Given the description of an element on the screen output the (x, y) to click on. 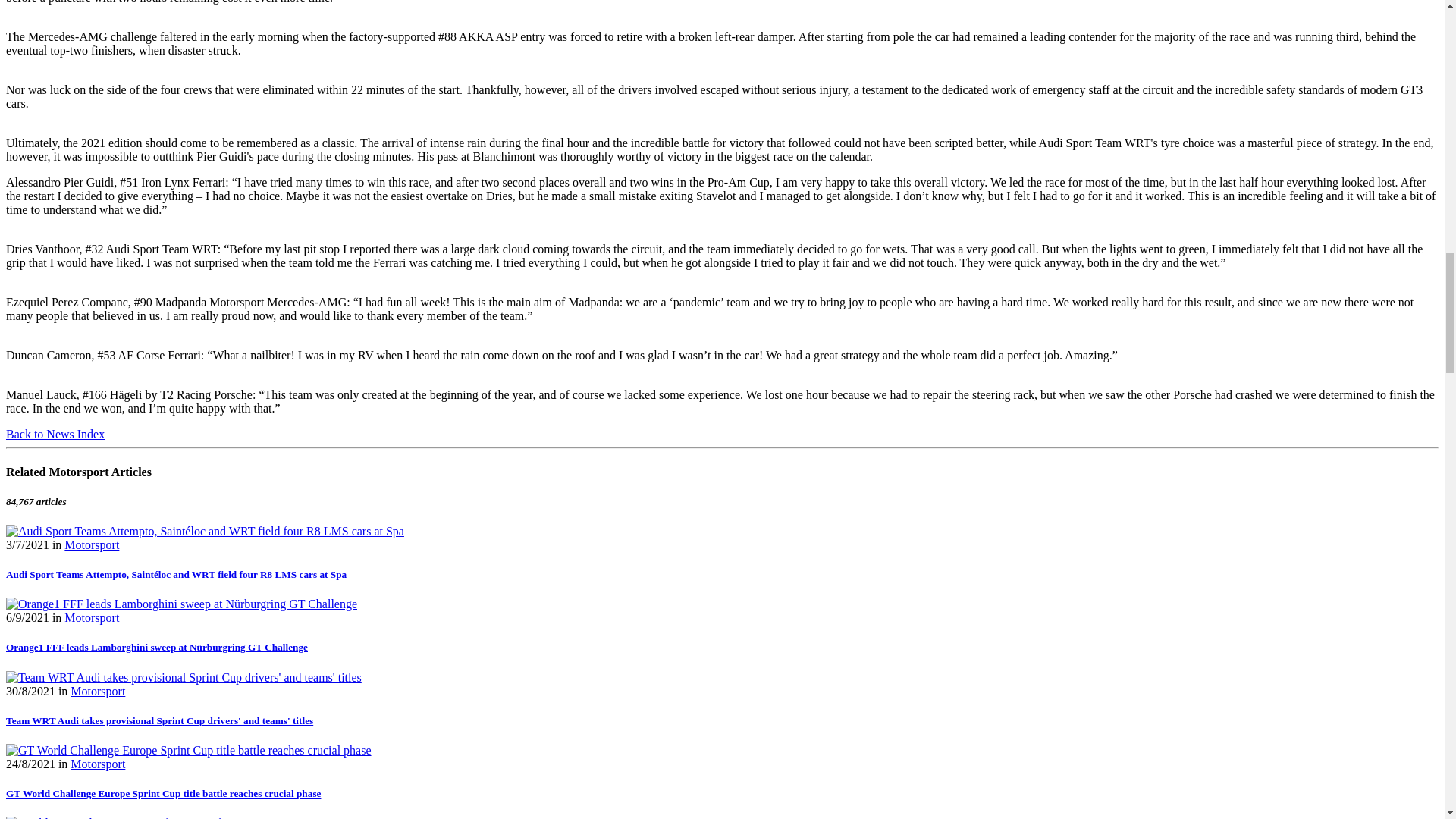
Back to News Index (54, 433)
Motorsport (91, 544)
Motorsport (91, 617)
